Given the description of an element on the screen output the (x, y) to click on. 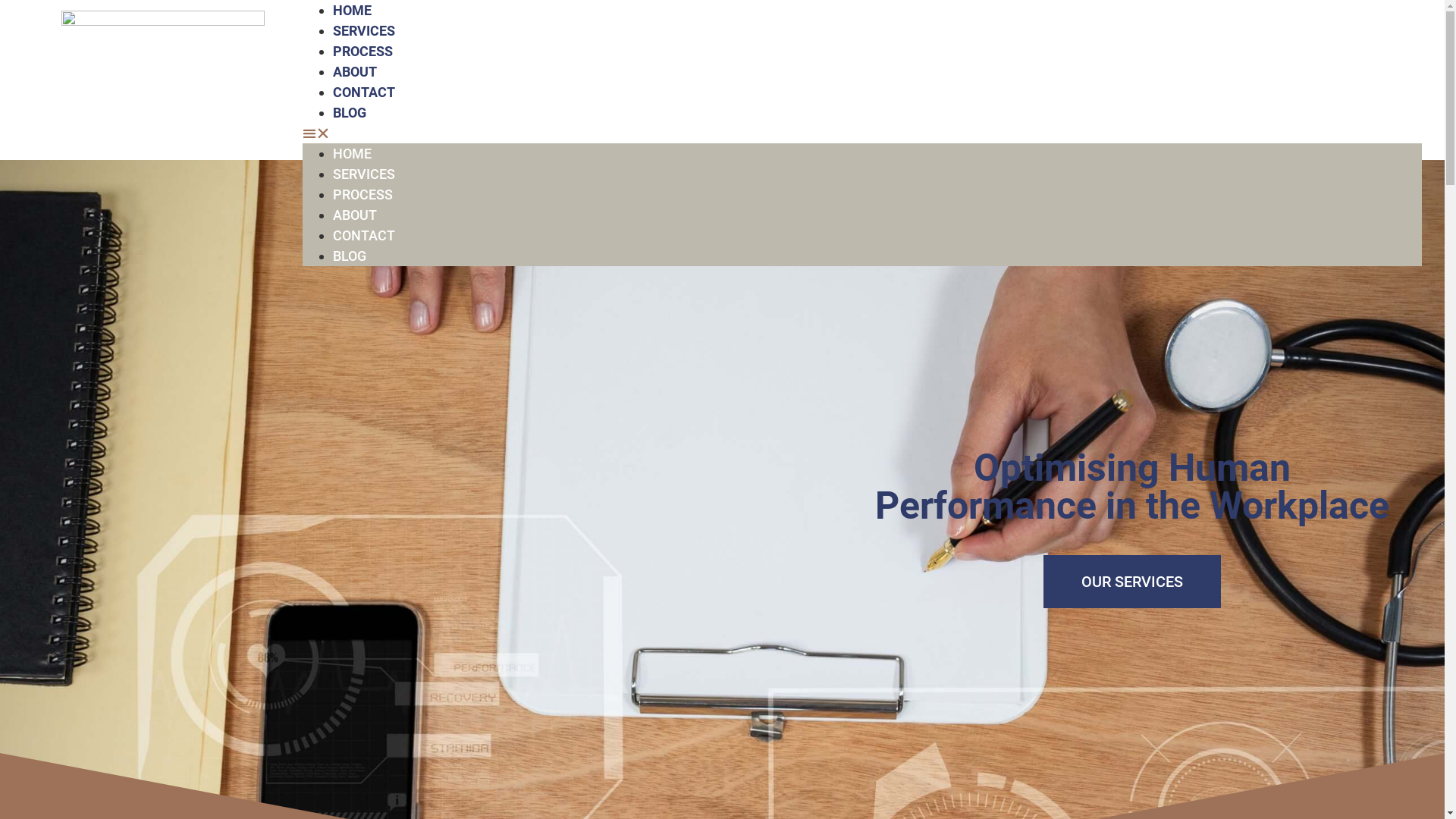
ABOUT Element type: text (354, 71)
SERVICES Element type: text (363, 174)
OUR SERVICES Element type: text (1131, 581)
PROCESS Element type: text (362, 50)
PROCESS Element type: text (362, 194)
CONTACT Element type: text (363, 235)
CONTACT Element type: text (363, 91)
BLOG Element type: text (349, 112)
HOME Element type: text (351, 153)
ABOUT Element type: text (354, 214)
BLOG Element type: text (349, 255)
